Given the description of an element on the screen output the (x, y) to click on. 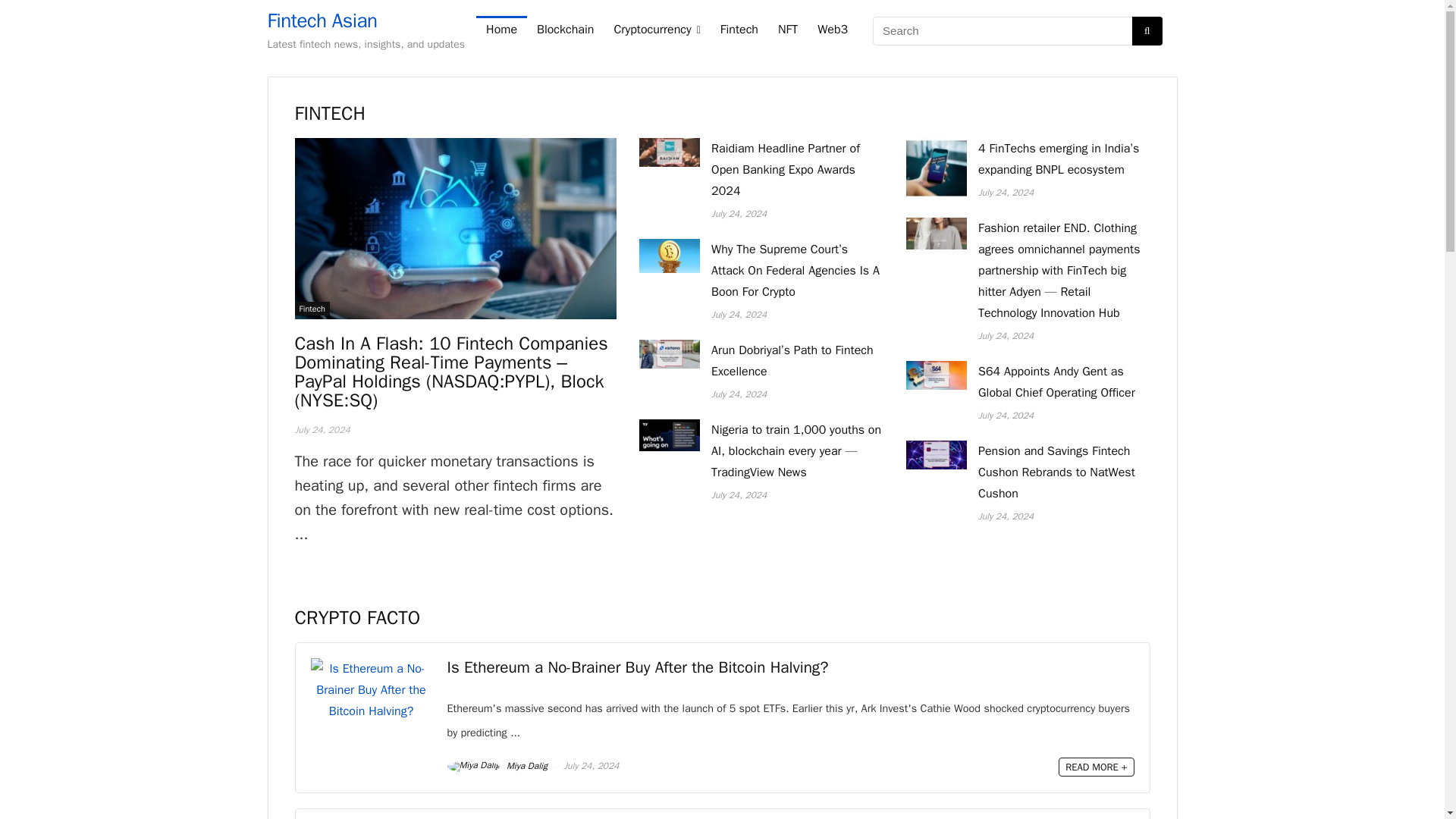
Is Ethereum a No-Brainer Buy After the Bitcoin Halving? (637, 667)
Home (501, 30)
Web3 (832, 30)
CRYPTO FACTO (357, 617)
Fintech (311, 308)
Cryptocurrency (657, 30)
S64 Appoints Andy Gent as Global Chief Operating Officer (1056, 381)
Blockchain (565, 30)
Raidiam Headline Partner of Open Banking Expo Awards 2024 (785, 169)
Fintech (739, 30)
Miya Dalig (496, 766)
FINTECH (329, 113)
NFT (788, 30)
